Given the description of an element on the screen output the (x, y) to click on. 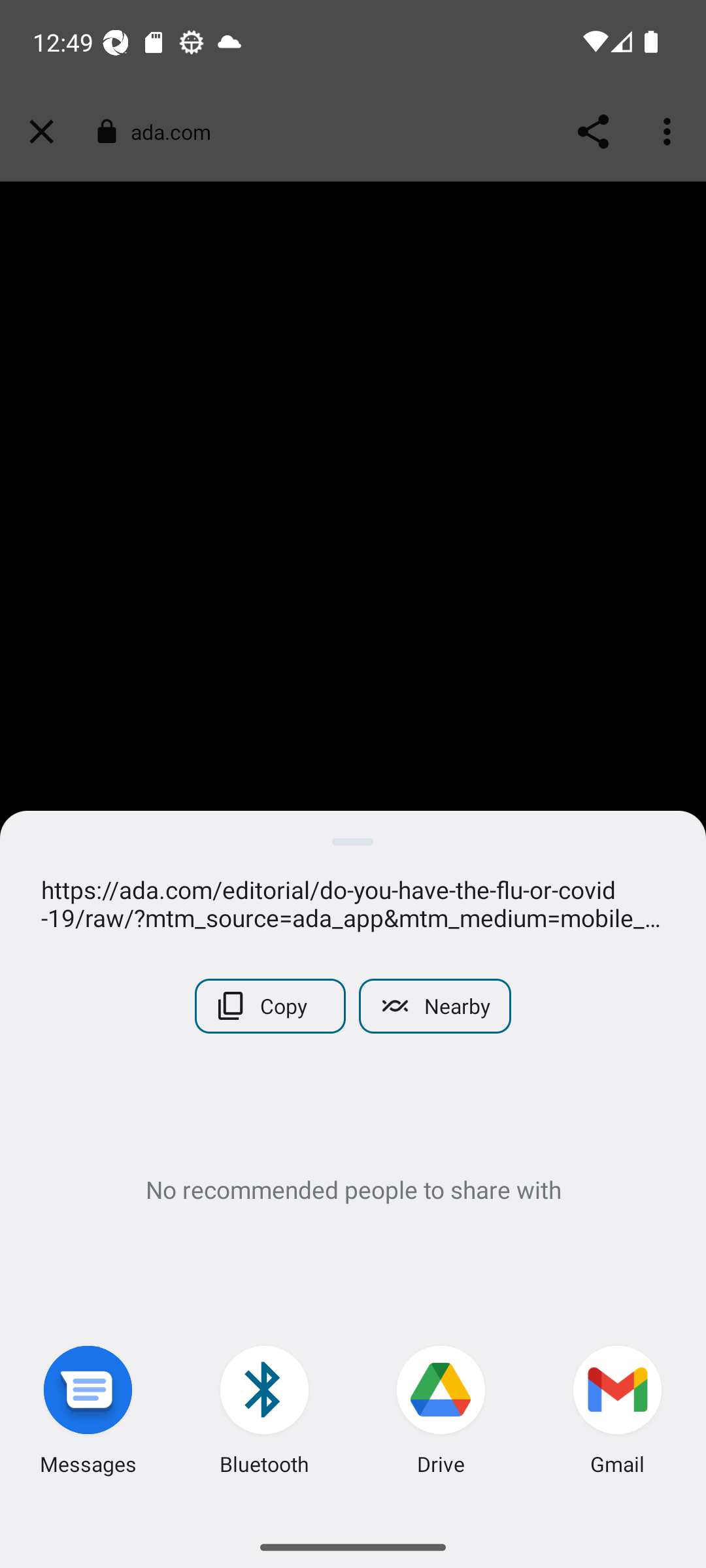
Copy (269, 1005)
Nearby (434, 1005)
Messages (88, 1414)
Bluetooth (264, 1414)
Drive (441, 1414)
Gmail (617, 1414)
